Given the description of an element on the screen output the (x, y) to click on. 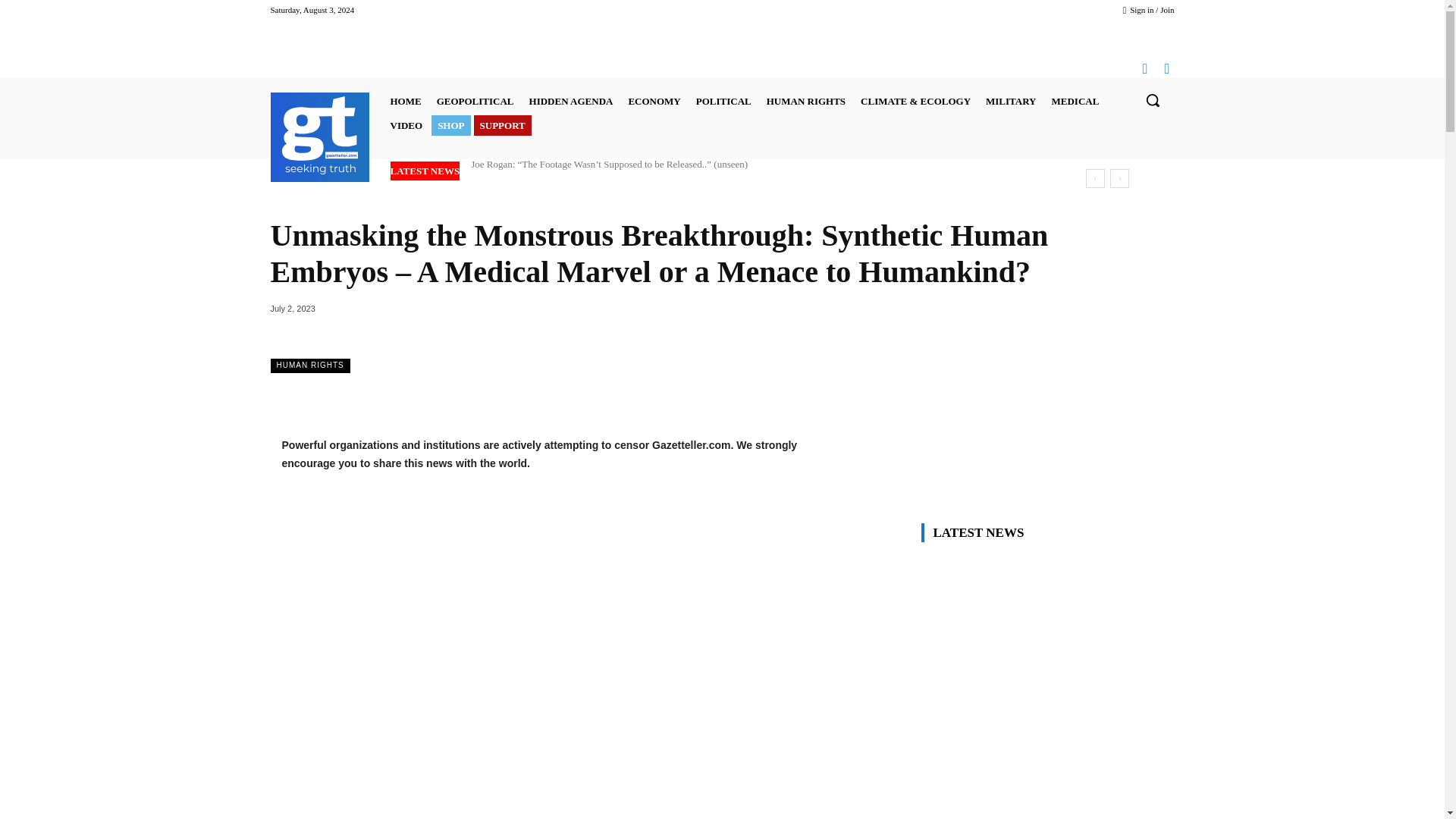
Twitter (1167, 66)
MILITARY (1010, 100)
MEDICAL (1075, 100)
GEOPOLITICAL (474, 100)
POLITICAL (723, 100)
HOME (405, 100)
HUMAN RIGHTS (805, 100)
SUPPORT (502, 125)
ECONOMY (653, 100)
HIDDEN AGENDA (571, 100)
Telegram (1144, 66)
SHOP (450, 125)
VIDEO (406, 125)
